Given the description of an element on the screen output the (x, y) to click on. 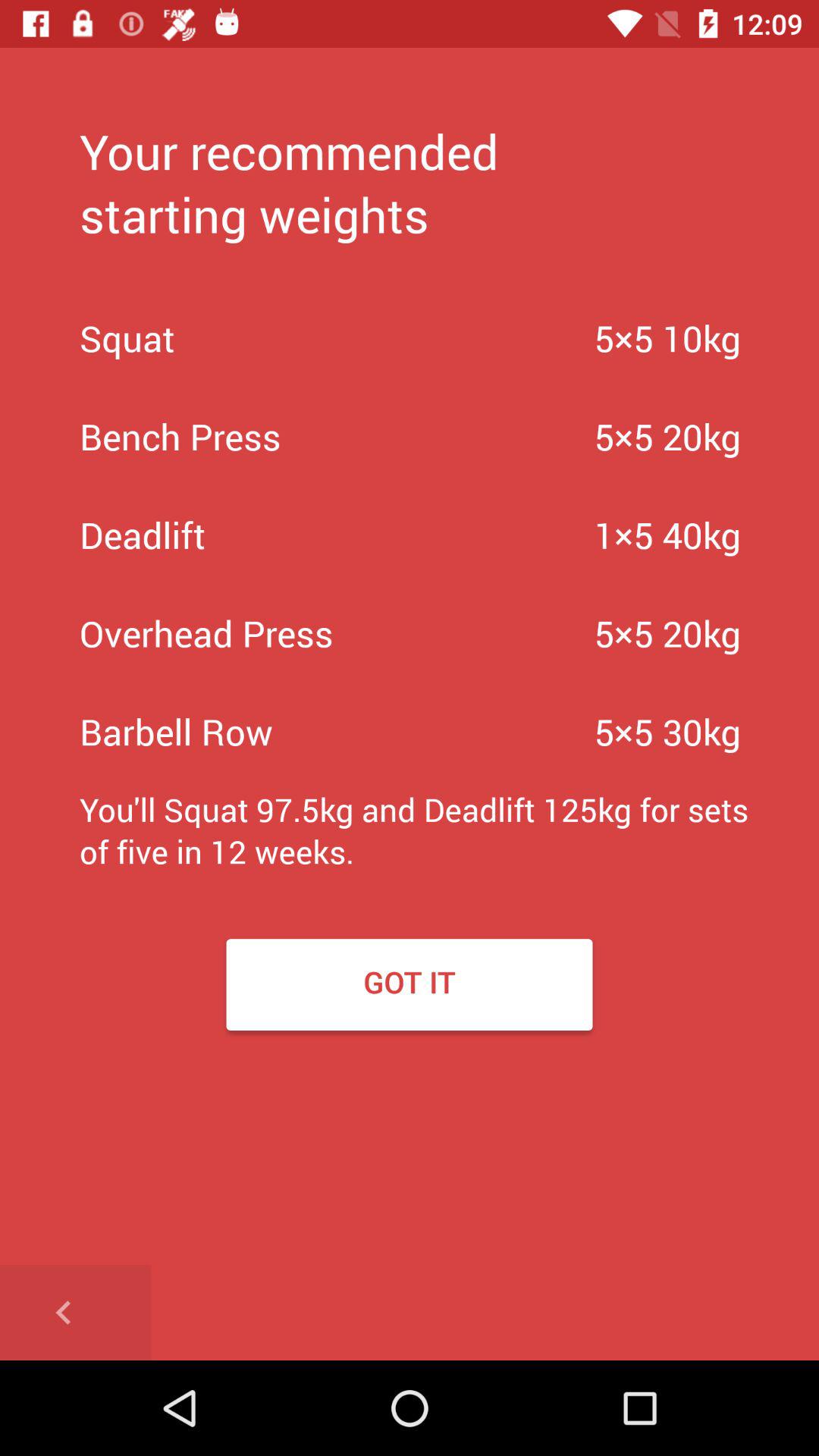
turn on icon at the bottom left corner (75, 1312)
